Given the description of an element on the screen output the (x, y) to click on. 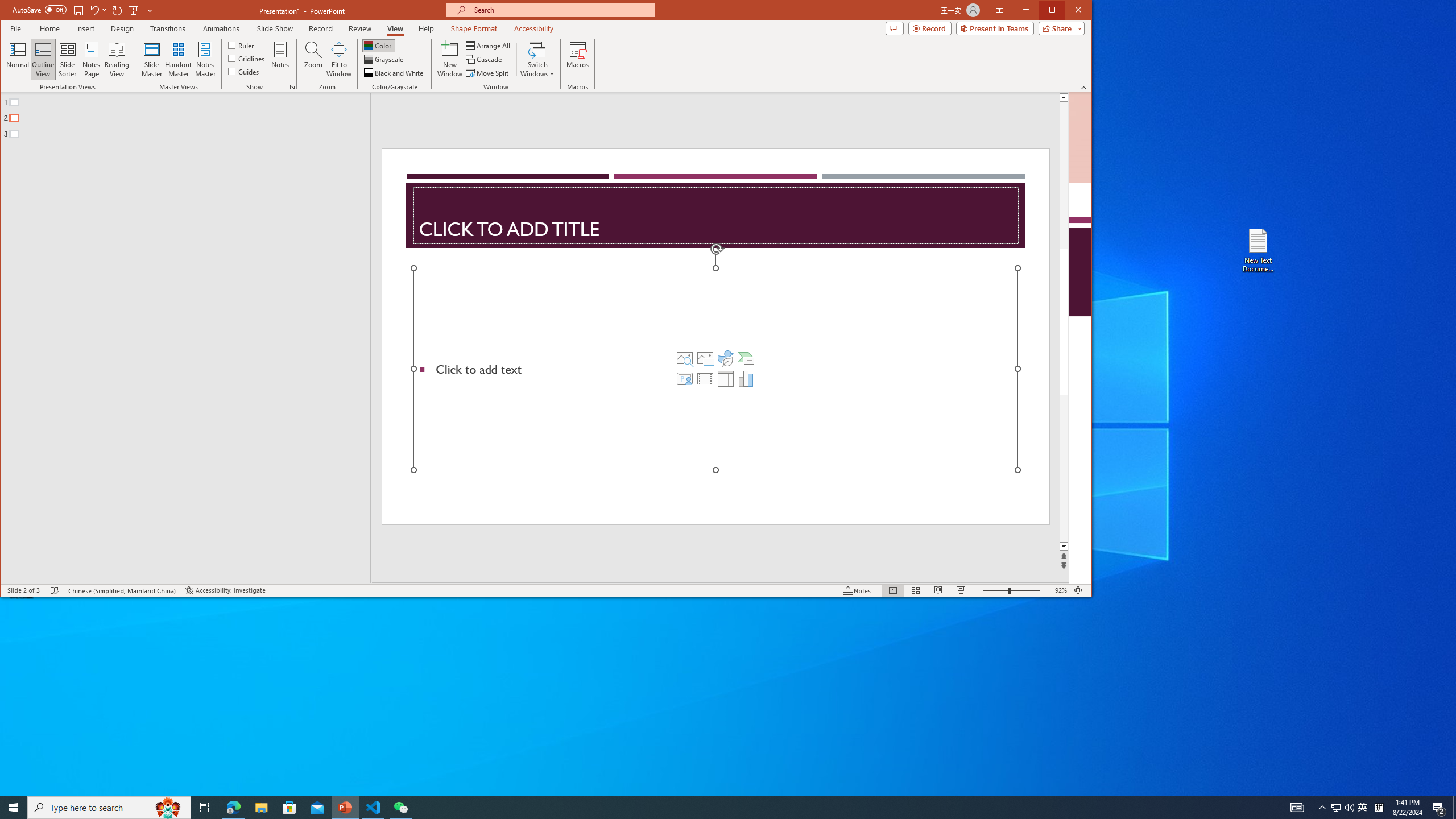
Notes Page (91, 59)
Black and White (394, 72)
Handout Master (178, 59)
